Given the description of an element on the screen output the (x, y) to click on. 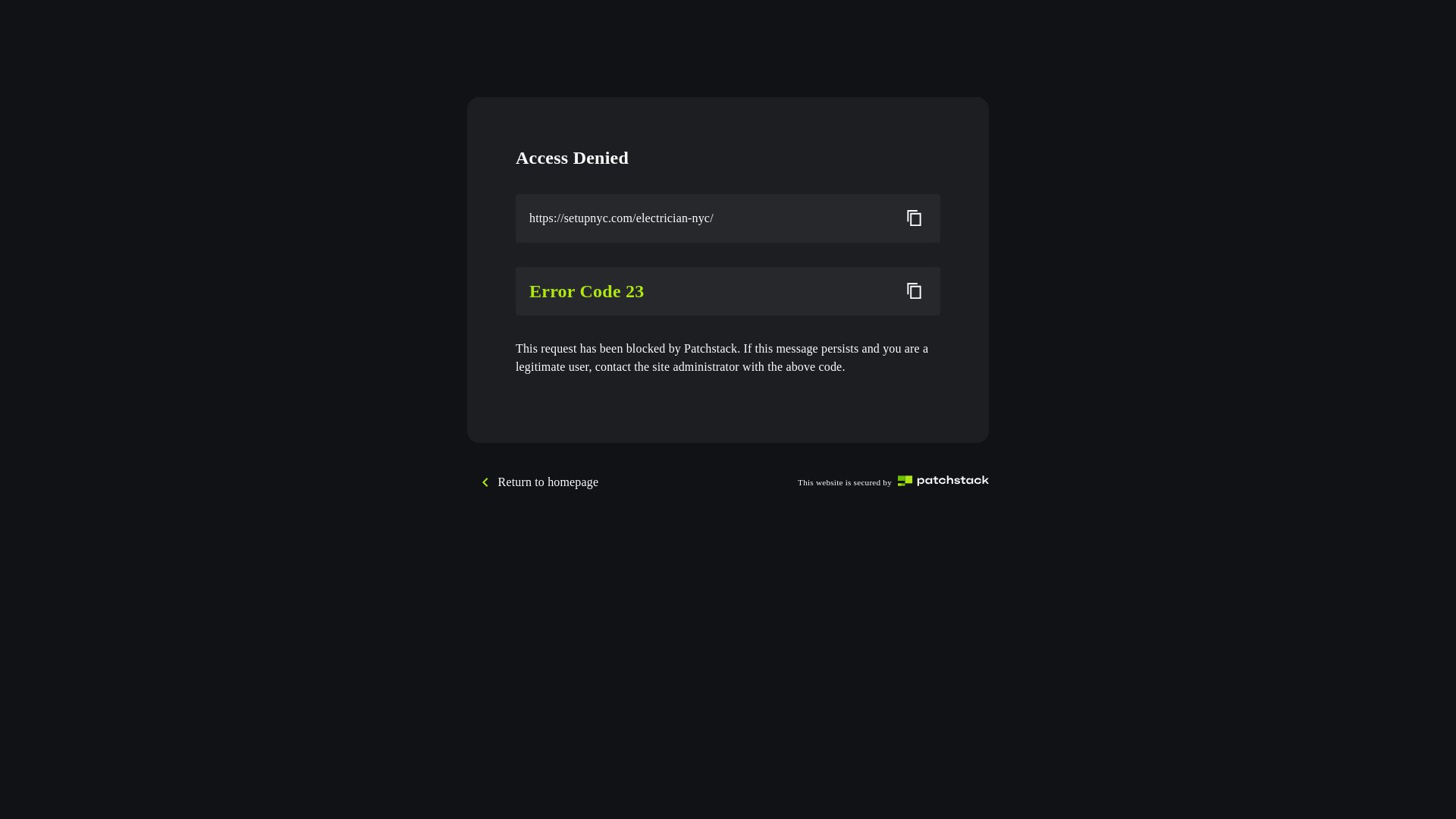
Error Code 23 (709, 290)
